Given the description of an element on the screen output the (x, y) to click on. 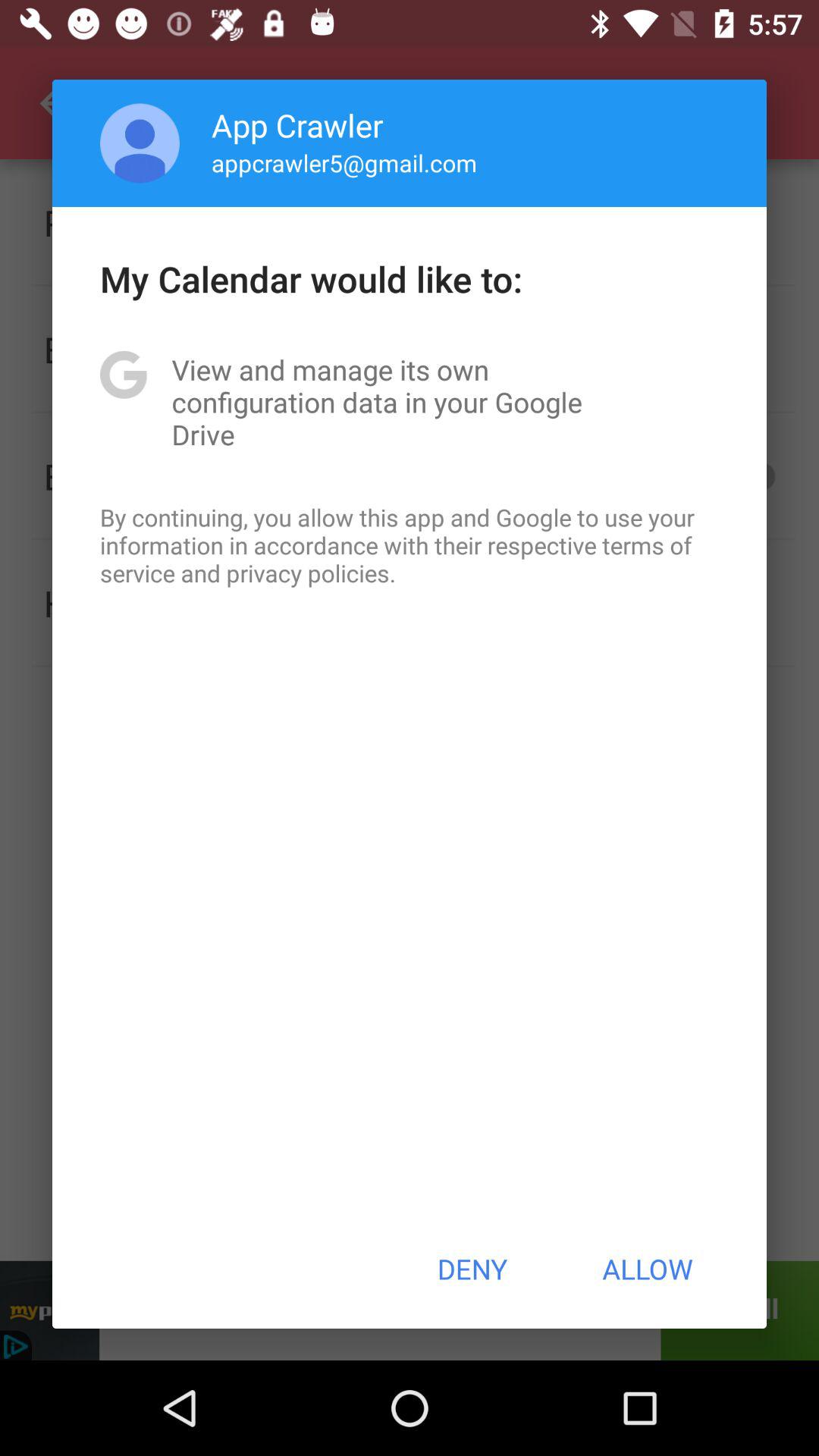
scroll until appcrawler5@gmail.com app (344, 162)
